Given the description of an element on the screen output the (x, y) to click on. 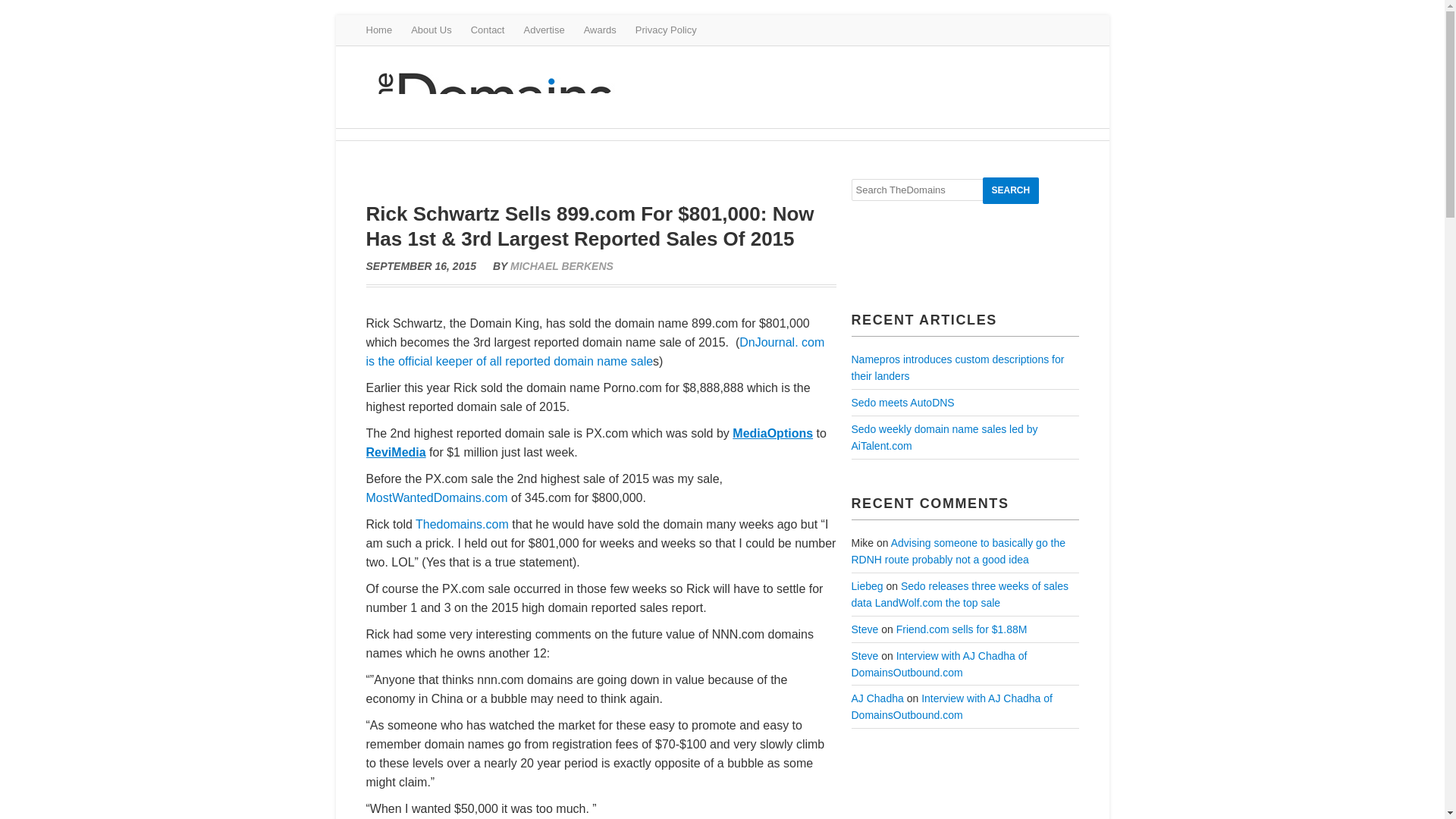
MediaOptions (772, 432)
About Us (430, 30)
Thedomains.com (461, 523)
Twitter (1024, 29)
Advertise (543, 30)
Privacy Policy (665, 30)
ReviMedia (395, 451)
MostWantedDomains.com (435, 497)
Search (1010, 190)
